Given the description of an element on the screen output the (x, y) to click on. 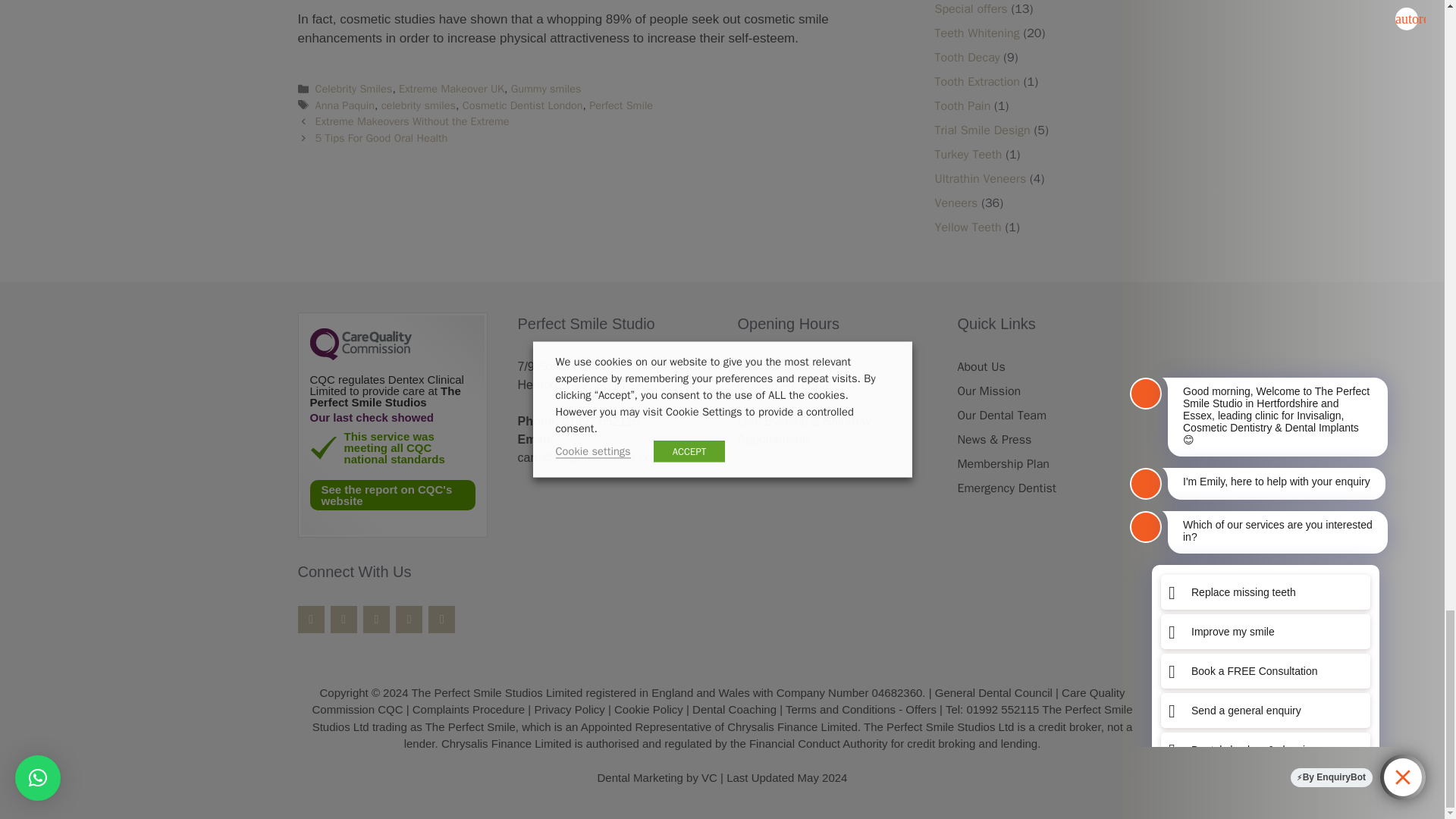
Facebook (310, 618)
Instagram (376, 618)
This service was meeting all CQC national standards (322, 447)
LinkedIn (441, 618)
YouTube (409, 618)
See report on CQC's website (391, 494)
Twitter (343, 618)
CQC Logo (359, 356)
